Given the description of an element on the screen output the (x, y) to click on. 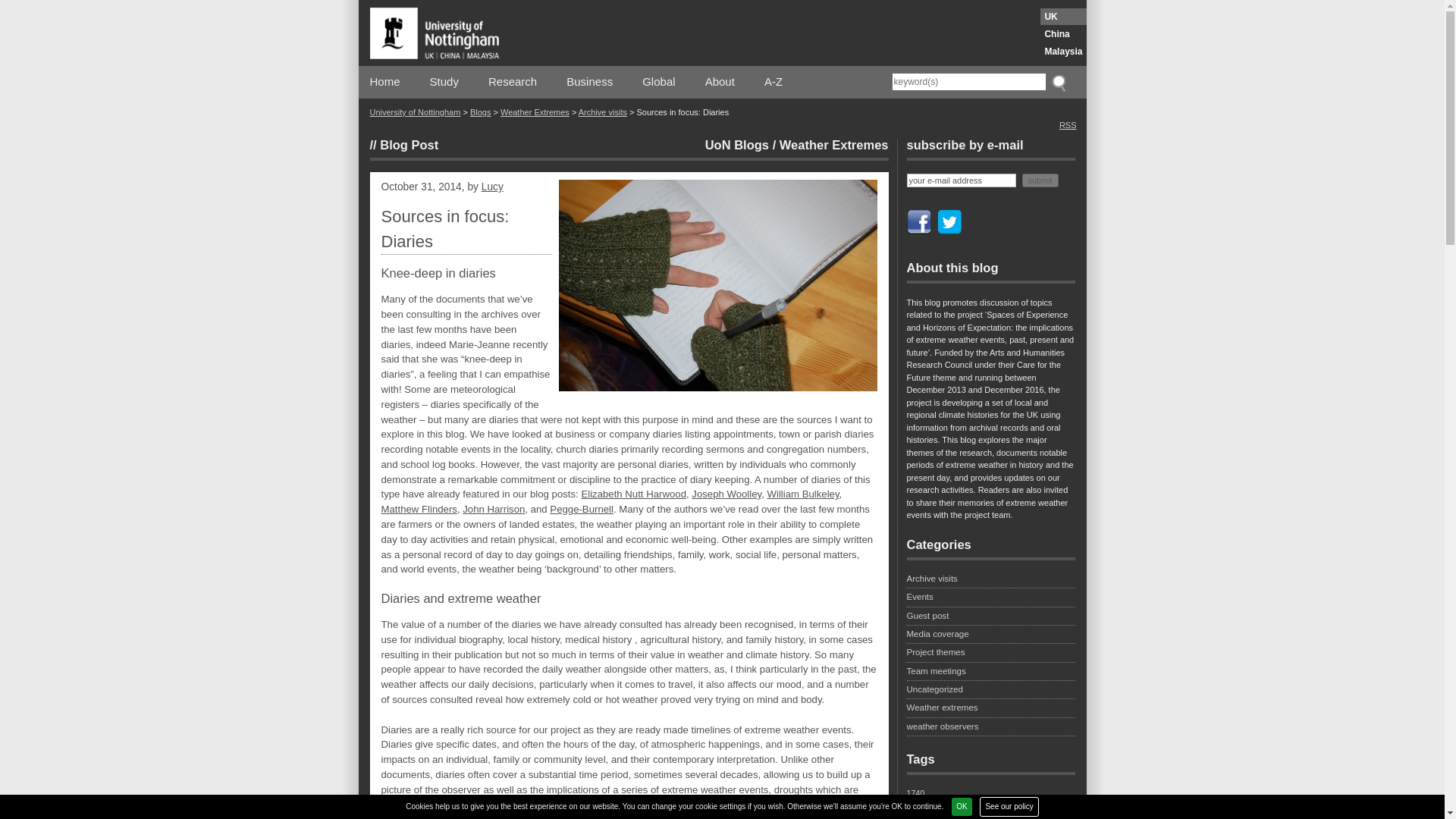
Business (589, 81)
Weather Extremes (534, 112)
Joseph Woolley (726, 493)
University of Nottingham (415, 112)
Elizabeth Nutt Harwood (632, 493)
China (1063, 33)
OK (961, 806)
Research (512, 81)
Elizabeth Nutt Harwood (632, 493)
William Bulkeley (803, 493)
